Given the description of an element on the screen output the (x, y) to click on. 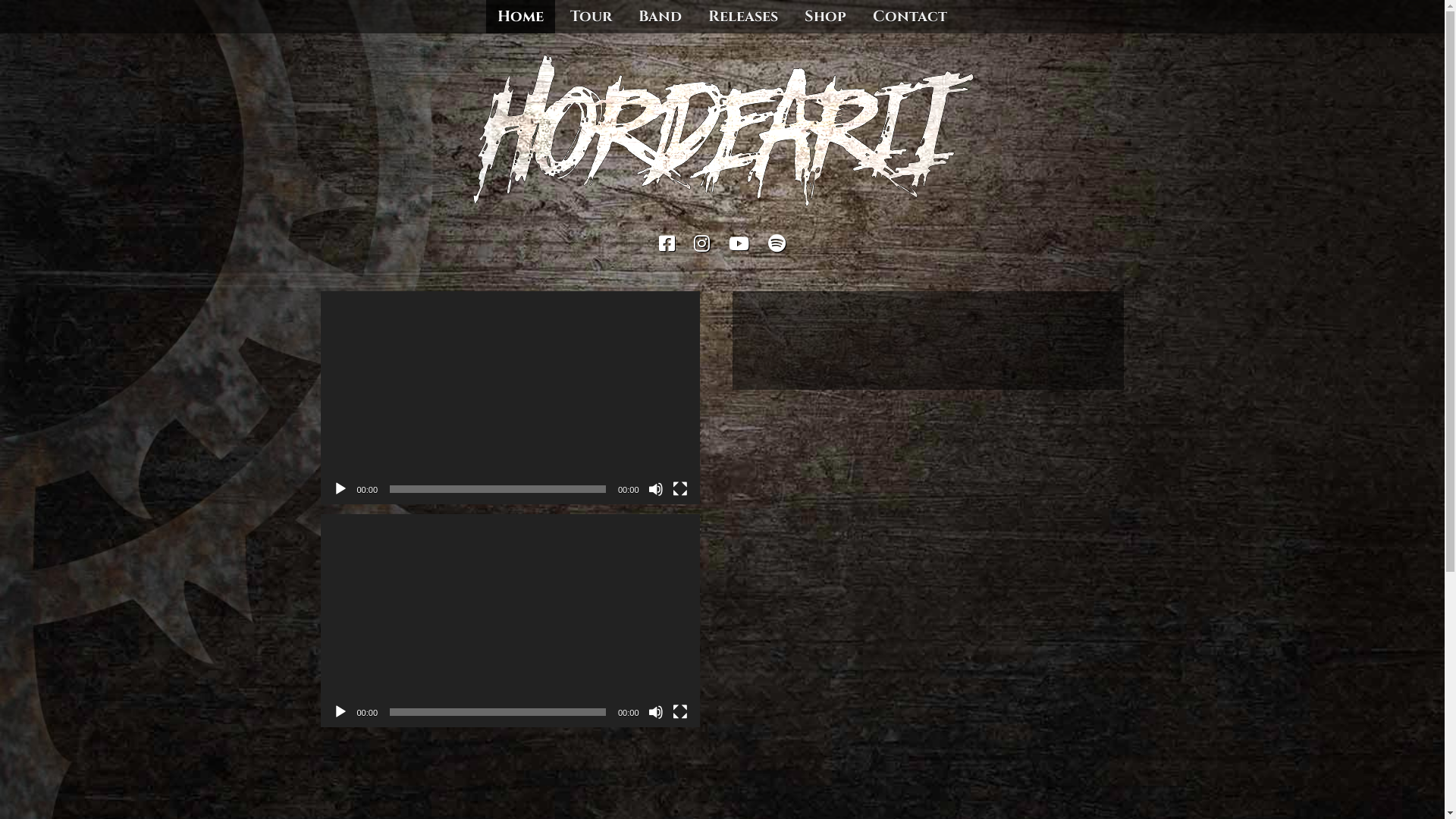
Facebook Element type: text (666, 245)
Shop Element type: text (825, 16)
Play Element type: hover (339, 488)
Spotify Element type: text (776, 245)
Tour Element type: text (590, 16)
Fullscreen Element type: hover (679, 488)
Mute Element type: hover (654, 711)
Home Element type: text (520, 16)
Fullscreen Element type: hover (679, 711)
Mute Element type: hover (654, 488)
Hordearii Element type: text (385, 246)
Band Element type: text (660, 16)
Contact Element type: text (909, 16)
Play Element type: hover (339, 711)
Instagram Element type: text (701, 245)
Hordearii | Dutch Death/Thrash Metal Element type: hover (721, 208)
YouTube Element type: text (738, 245)
Releases Element type: text (742, 16)
